Given the description of an element on the screen output the (x, y) to click on. 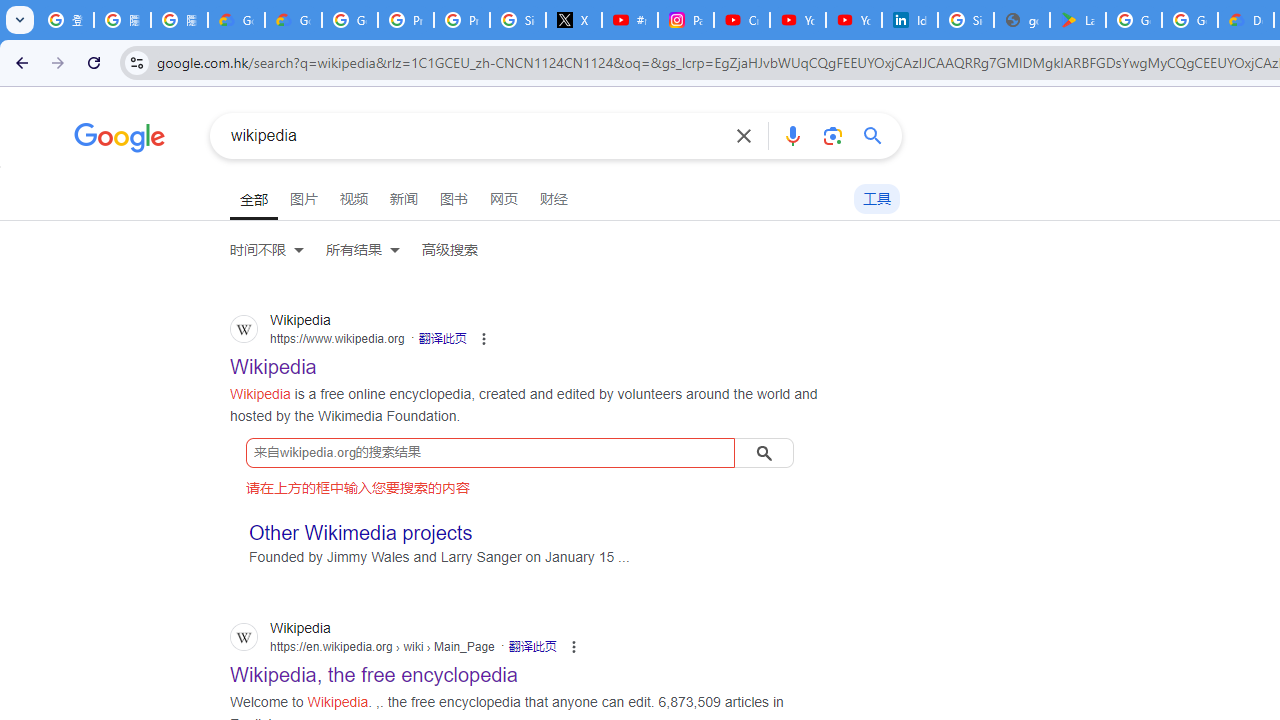
Sign in - Google Accounts (518, 20)
Google Cloud Privacy Notice (293, 20)
Privacy Help Center - Policies Help (461, 20)
